Given the description of an element on the screen output the (x, y) to click on. 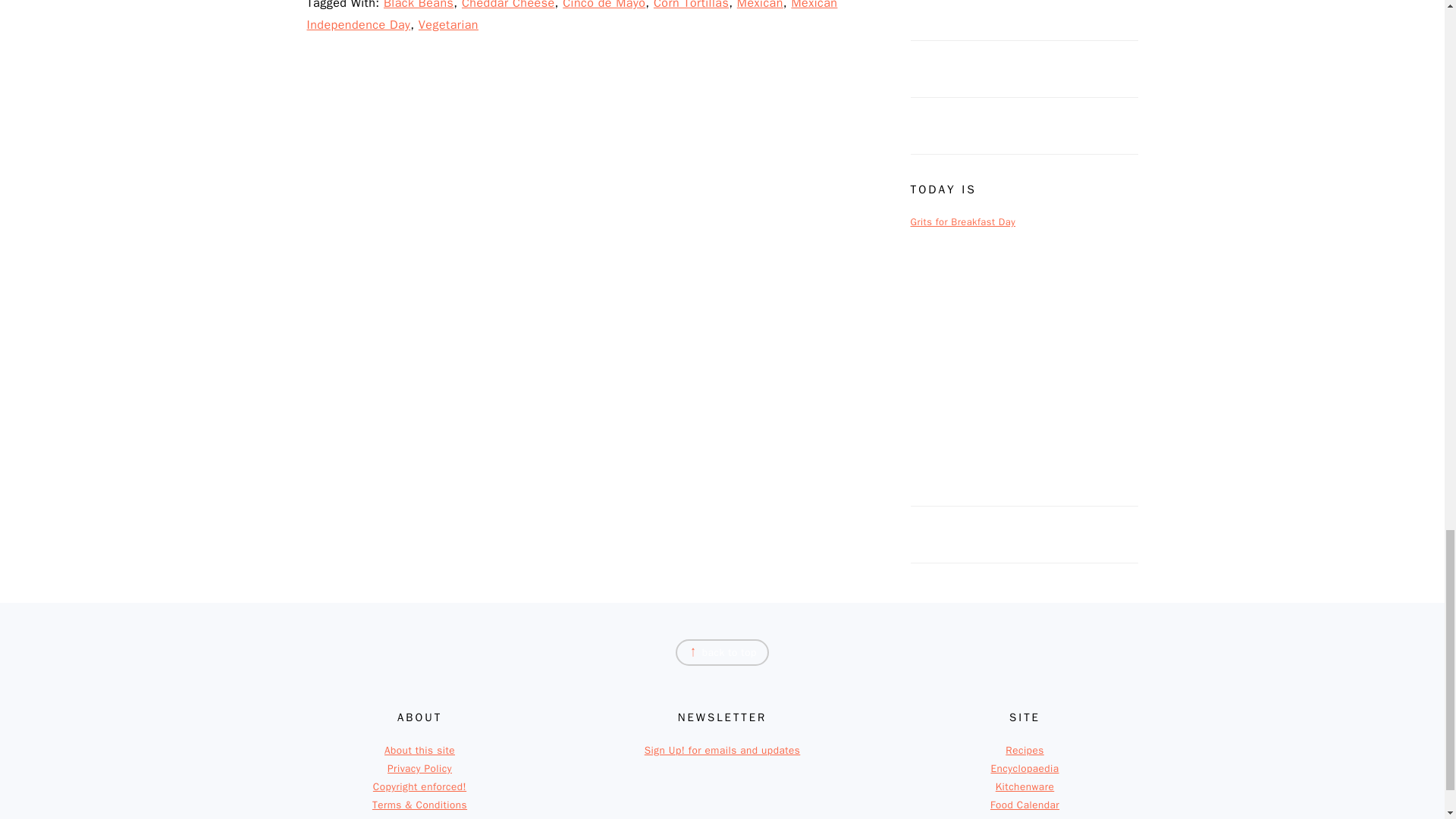
Black Beans (418, 5)
Mexican (759, 5)
Mexican Independence Day (571, 16)
Cinco de Mayo (603, 5)
Corn Tortillas (691, 5)
Cheddar Cheese (507, 5)
